Given the description of an element on the screen output the (x, y) to click on. 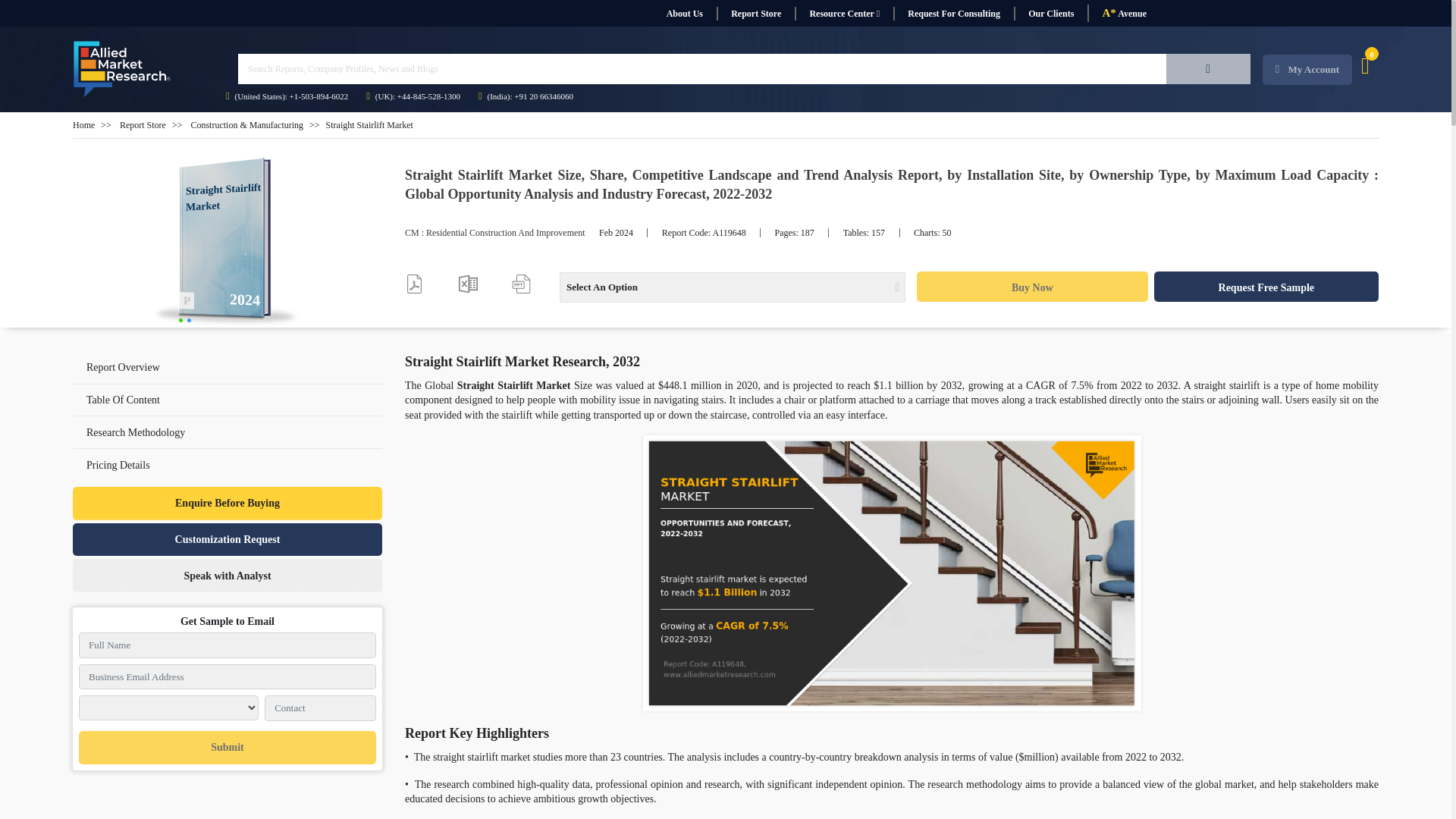
Buy Now (1032, 286)
Customization Request (226, 539)
Data Pack Excel (467, 283)
Request Free Sample (1266, 286)
Straight Stairlift Market (227, 242)
Submit (226, 747)
Research Methodology (134, 432)
Home (83, 124)
Pricing Details (226, 464)
My Account (1307, 69)
